Given the description of an element on the screen output the (x, y) to click on. 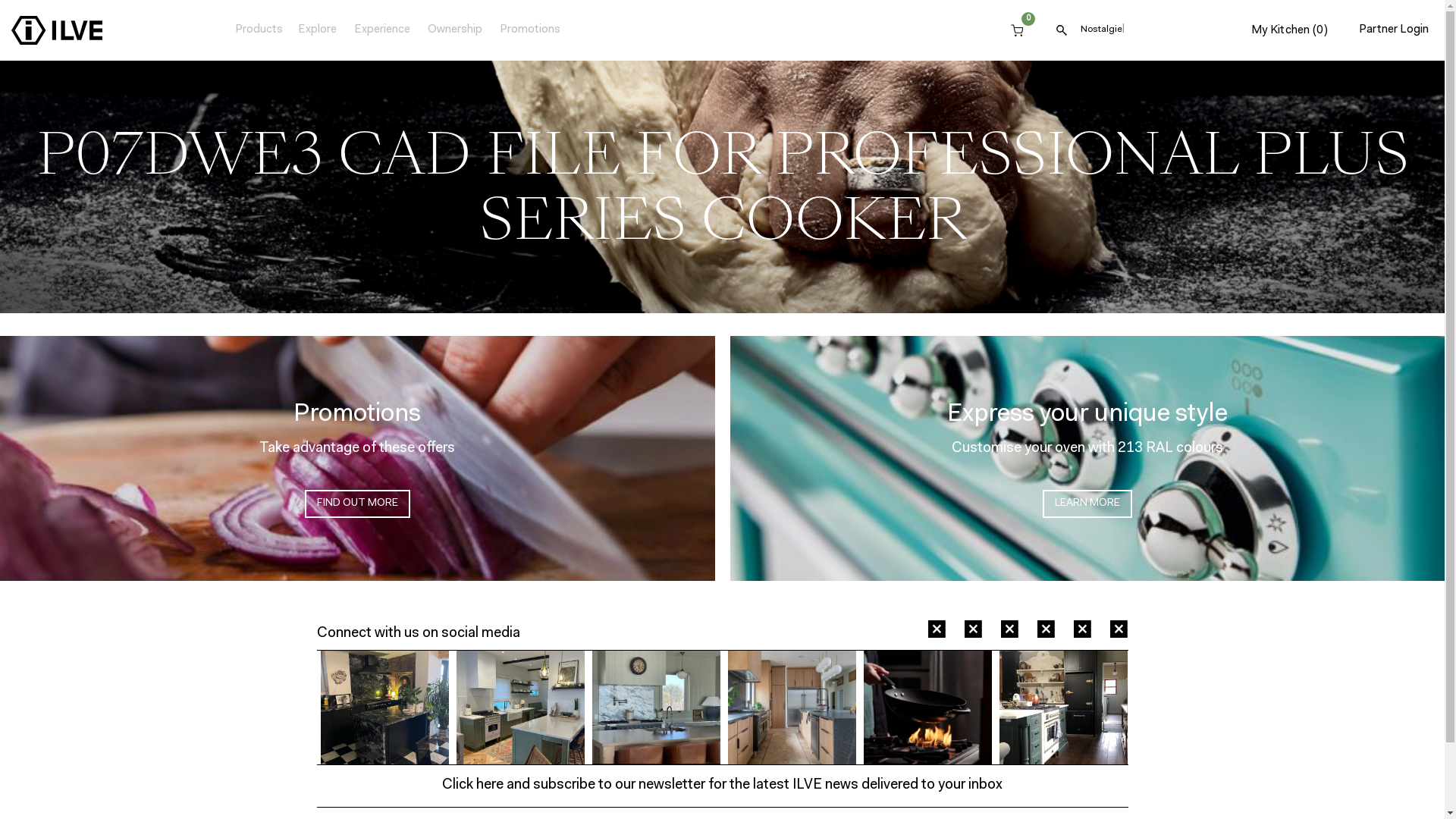
Experience Element type: text (381, 30)
Previous Element type: text (304, 707)
Explore Element type: text (317, 30)
Promotions
Take advantage of these offers
FIND OUT MORE Element type: text (357, 457)
Products Element type: text (258, 30)
My Kitchen (0) Element type: text (1289, 29)
Partner Login Element type: text (1393, 29)
Next Element type: text (1138, 707)
Ownership Element type: text (454, 30)
Promotions Element type: text (529, 30)
Search Element type: text (1061, 30)
0 Element type: text (1016, 30)
